Given the description of an element on the screen output the (x, y) to click on. 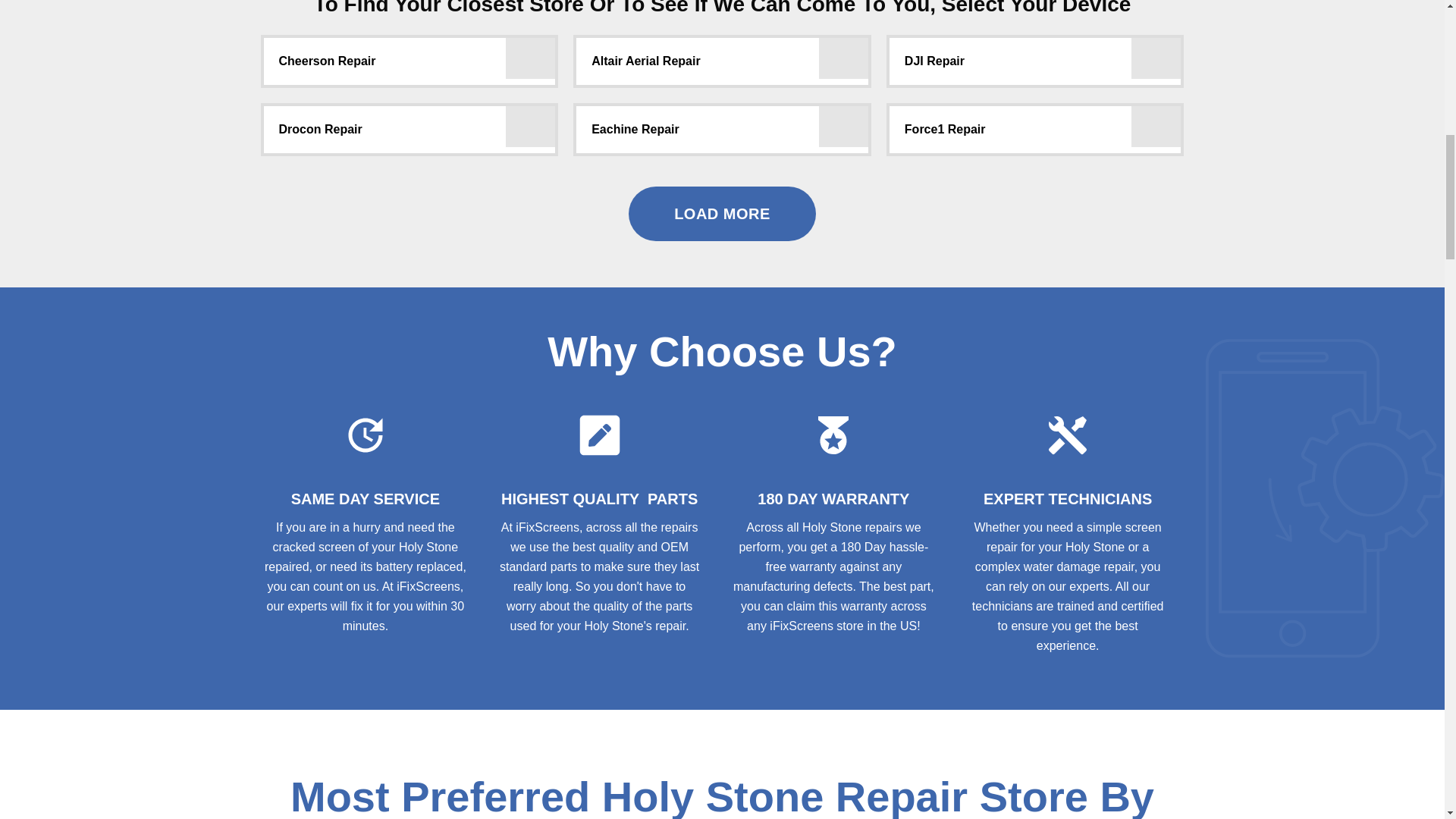
Force1 Repair (1155, 121)
Eachine Repair (842, 121)
Cheerson Repair (529, 52)
Altair Aerial Repair (842, 52)
Cheerson Repair (409, 61)
Altair Aerial Repair (721, 61)
Dji Repair (1155, 52)
Drocon Repair (529, 121)
